Given the description of an element on the screen output the (x, y) to click on. 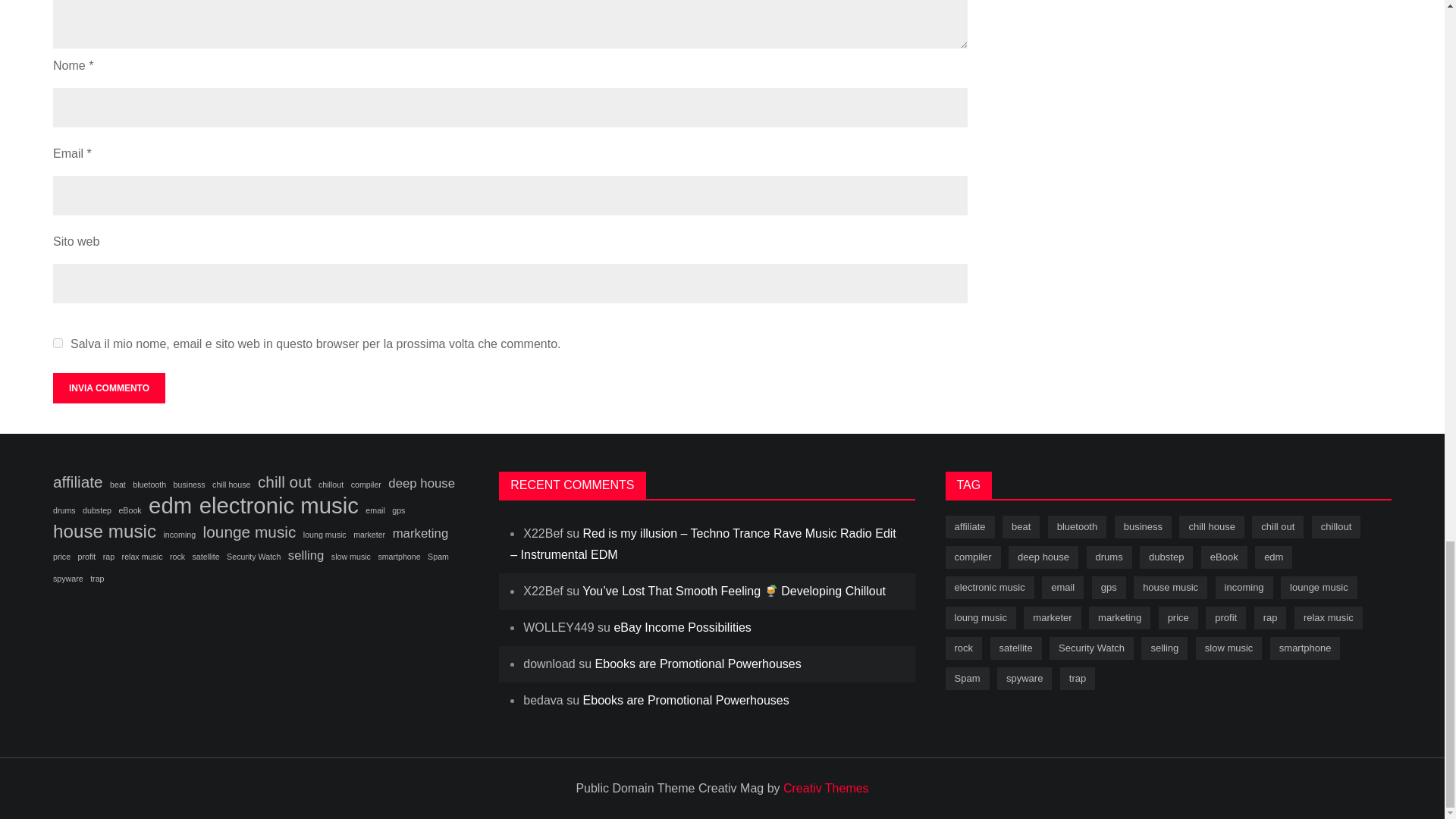
chill house (231, 484)
affiliate (77, 482)
business (189, 484)
chill out (284, 482)
Invia commento (108, 388)
beat (117, 484)
bluetooth (148, 484)
yes (57, 343)
Invia commento (108, 388)
